Given the description of an element on the screen output the (x, y) to click on. 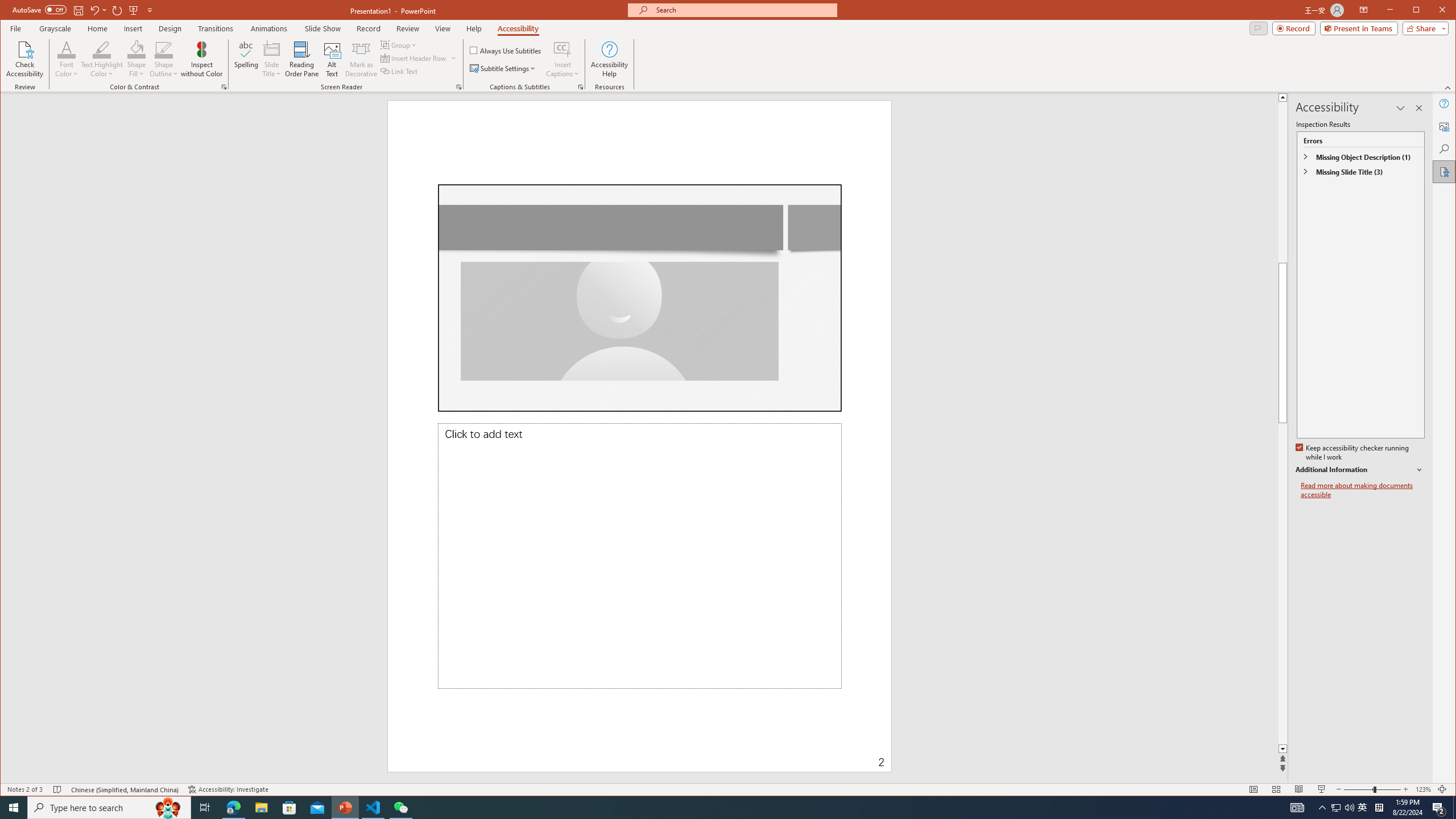
Slide Title (271, 59)
